Given the description of an element on the screen output the (x, y) to click on. 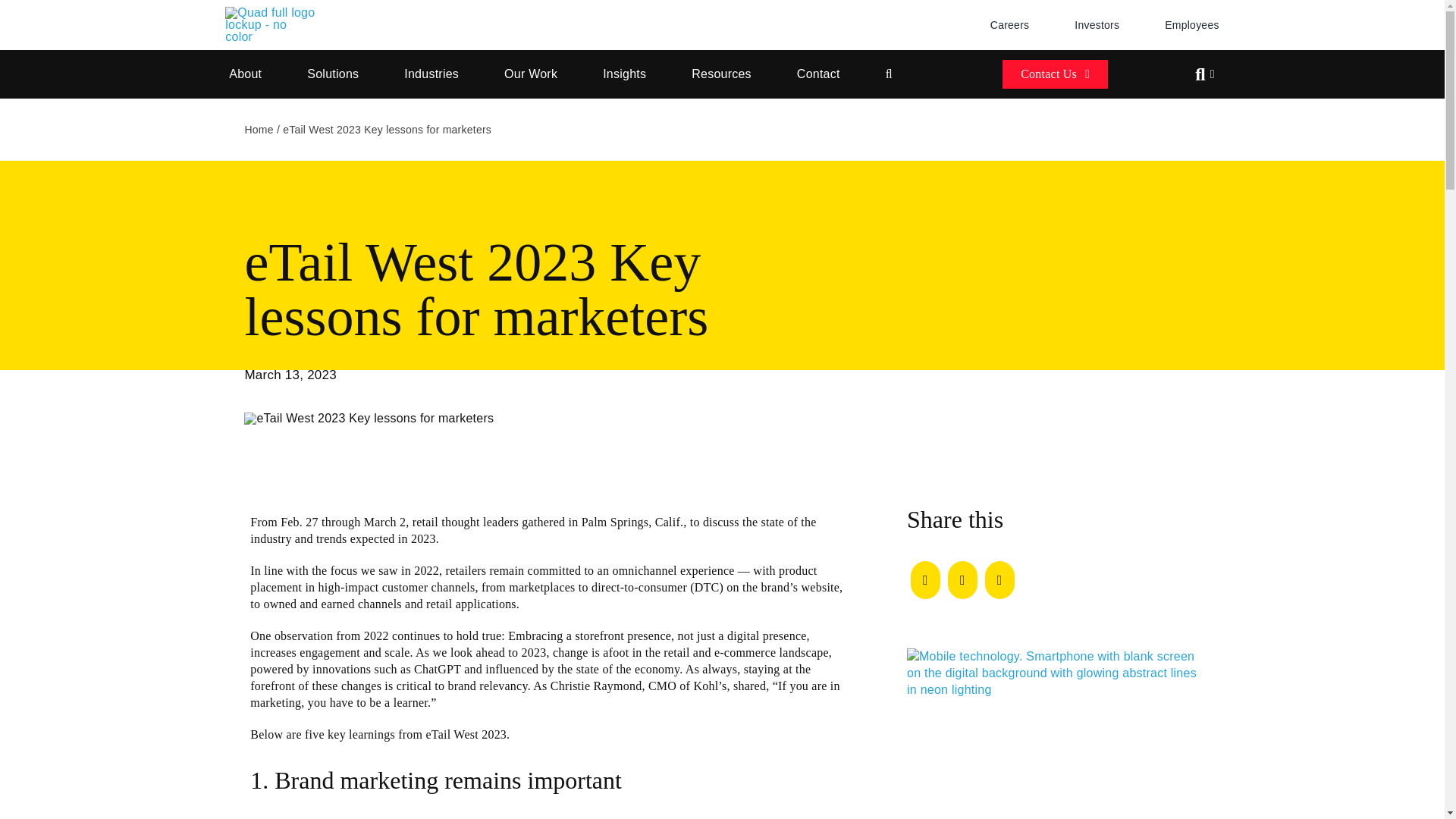
About (245, 74)
people on escalators (368, 418)
Investors (1096, 24)
Careers (1009, 24)
Solutions (332, 74)
Employees (1191, 24)
Industries (431, 74)
